Given the description of an element on the screen output the (x, y) to click on. 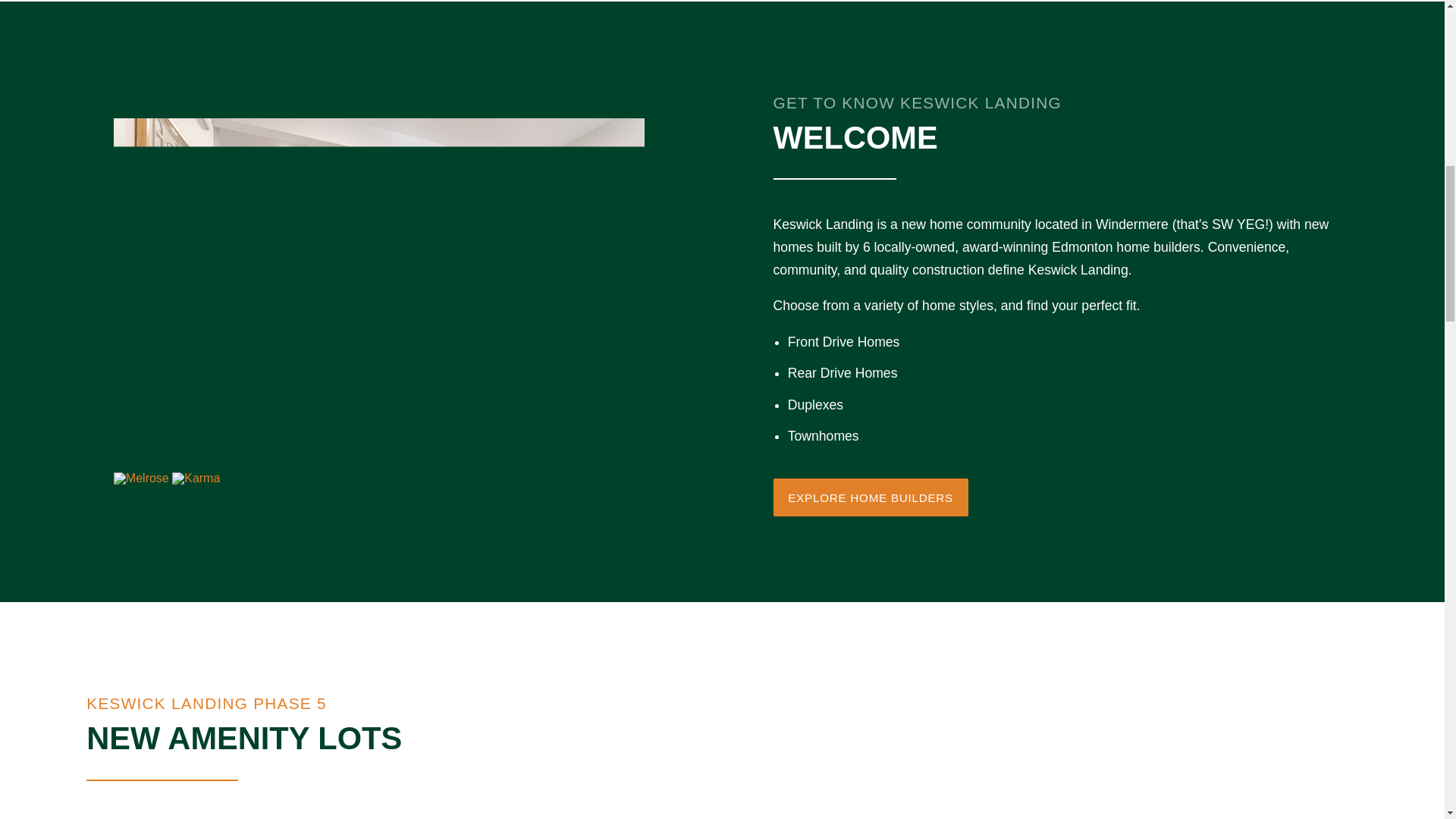
EXPLORE HOME BUILDERS (870, 496)
